Given the description of an element on the screen output the (x, y) to click on. 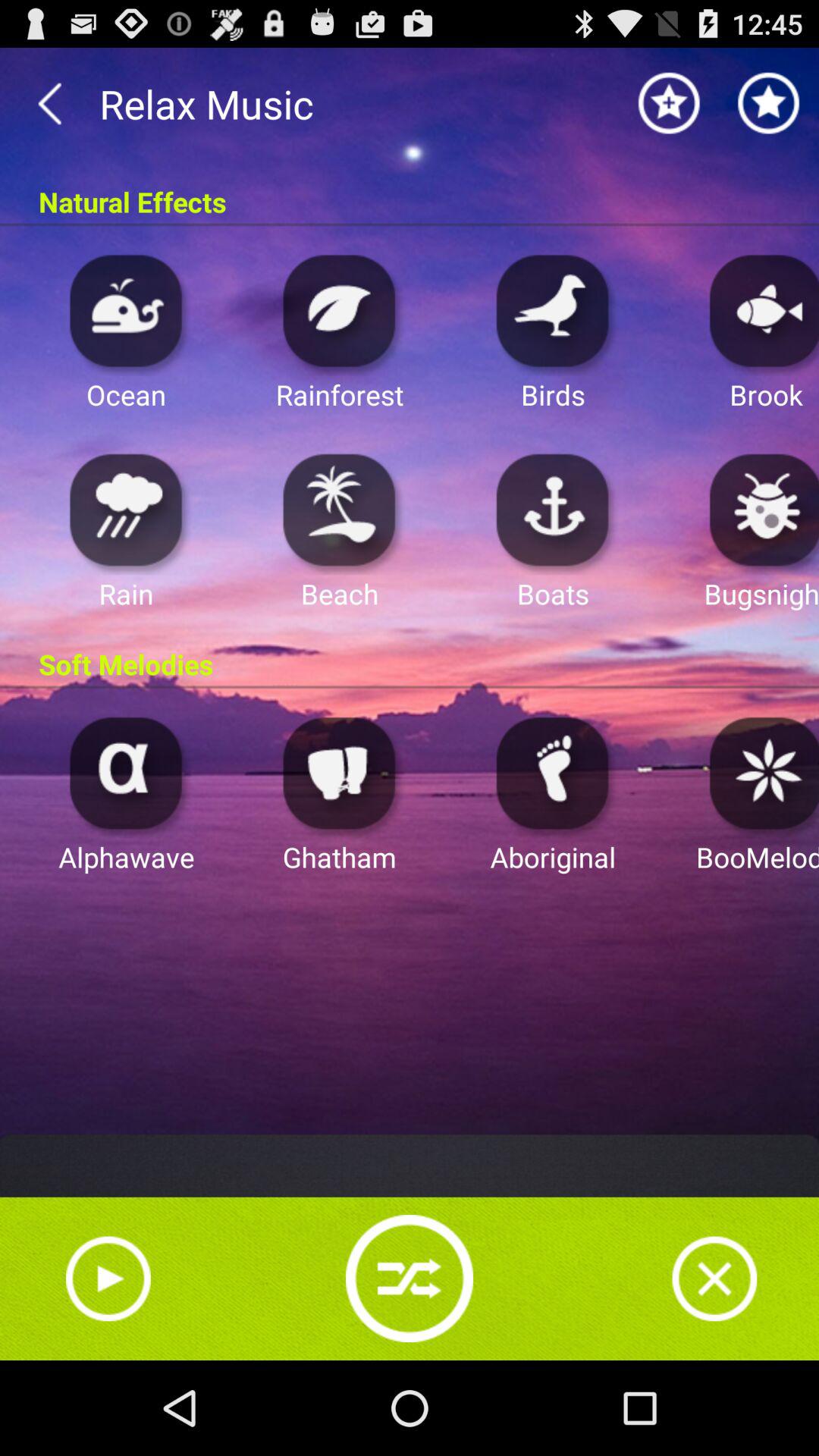
it activates a relaxing music theme (339, 772)
